Given the description of an element on the screen output the (x, y) to click on. 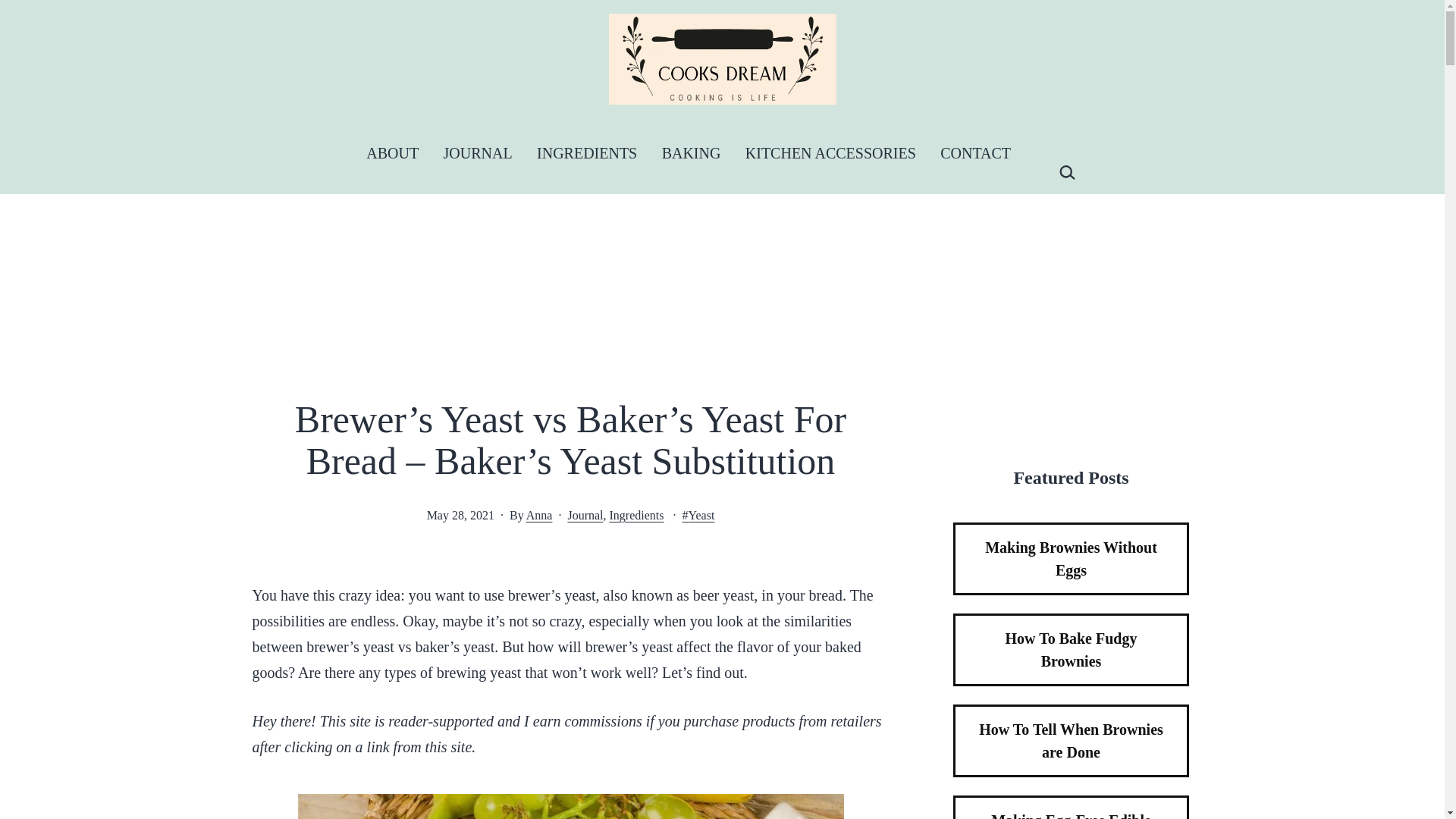
Ingredients (636, 514)
CONTACT (975, 153)
Anna (539, 514)
BAKING (690, 153)
KITCHEN ACCESSORIES (830, 153)
Yeast (698, 514)
Journal (584, 514)
INGREDIENTS (587, 153)
JOURNAL (477, 153)
ABOUT (392, 153)
